Given the description of an element on the screen output the (x, y) to click on. 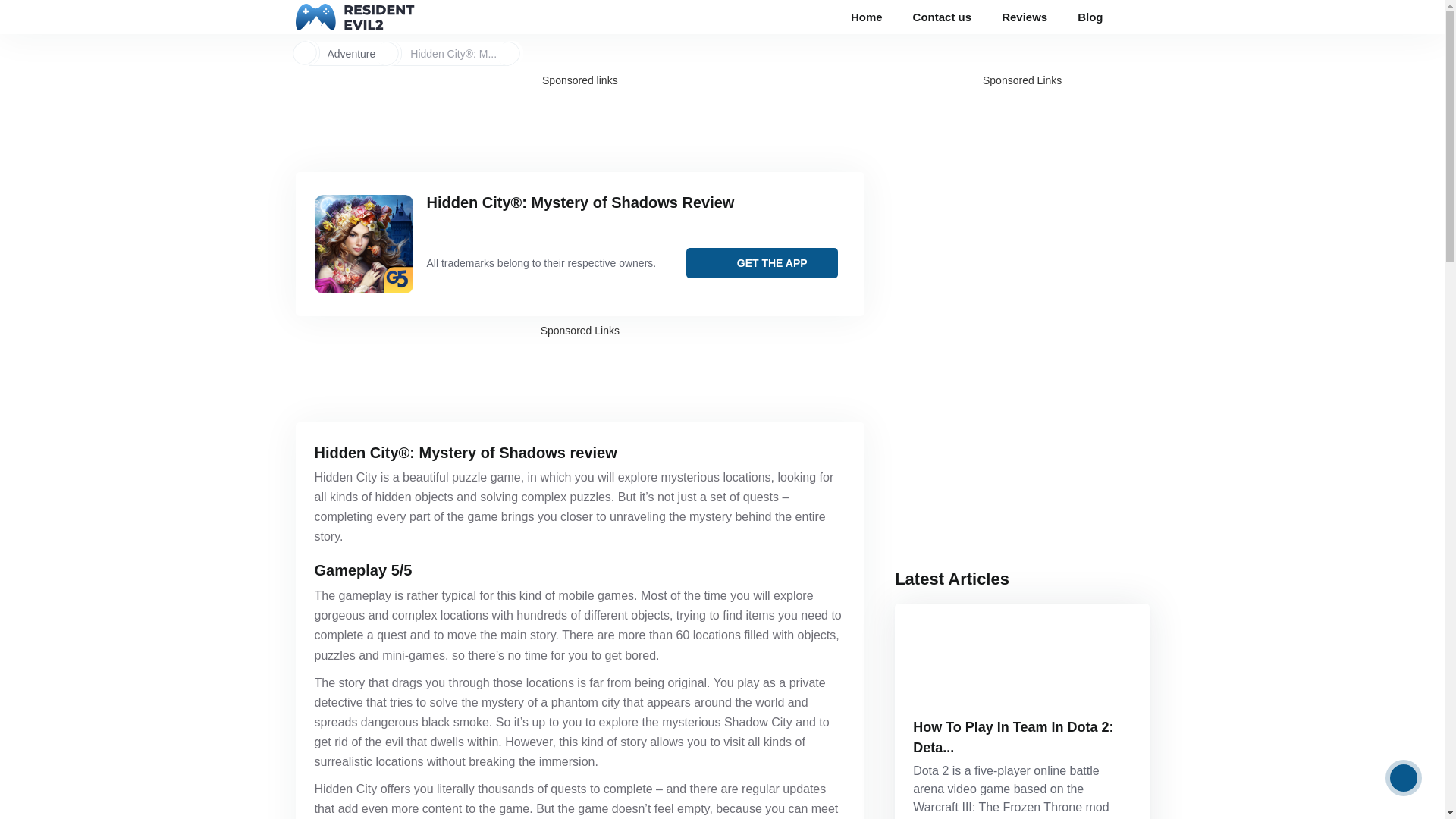
Home (866, 18)
Reviews (1024, 18)
Blog (1090, 18)
logo (354, 17)
GET THE APP (761, 263)
Contact us (942, 18)
User rating 5 (459, 225)
Adventure (351, 53)
